Given the description of an element on the screen output the (x, y) to click on. 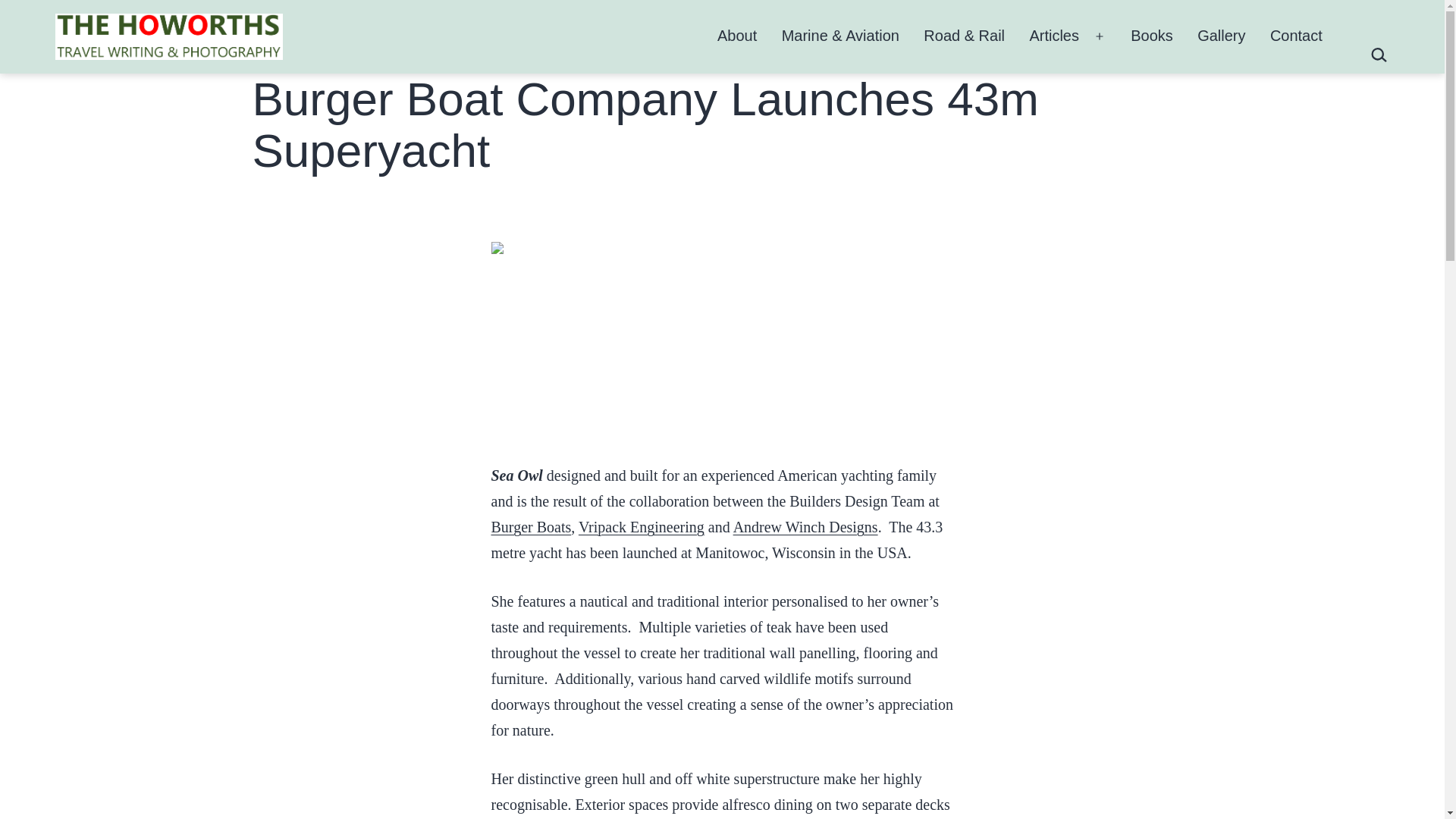
Andrew Winch Designs (805, 526)
About (737, 36)
Books (1151, 36)
Burger Boats (532, 526)
Contact (1296, 36)
Vripack Engineering (641, 526)
Gallery (1221, 36)
Articles (1054, 36)
